Given the description of an element on the screen output the (x, y) to click on. 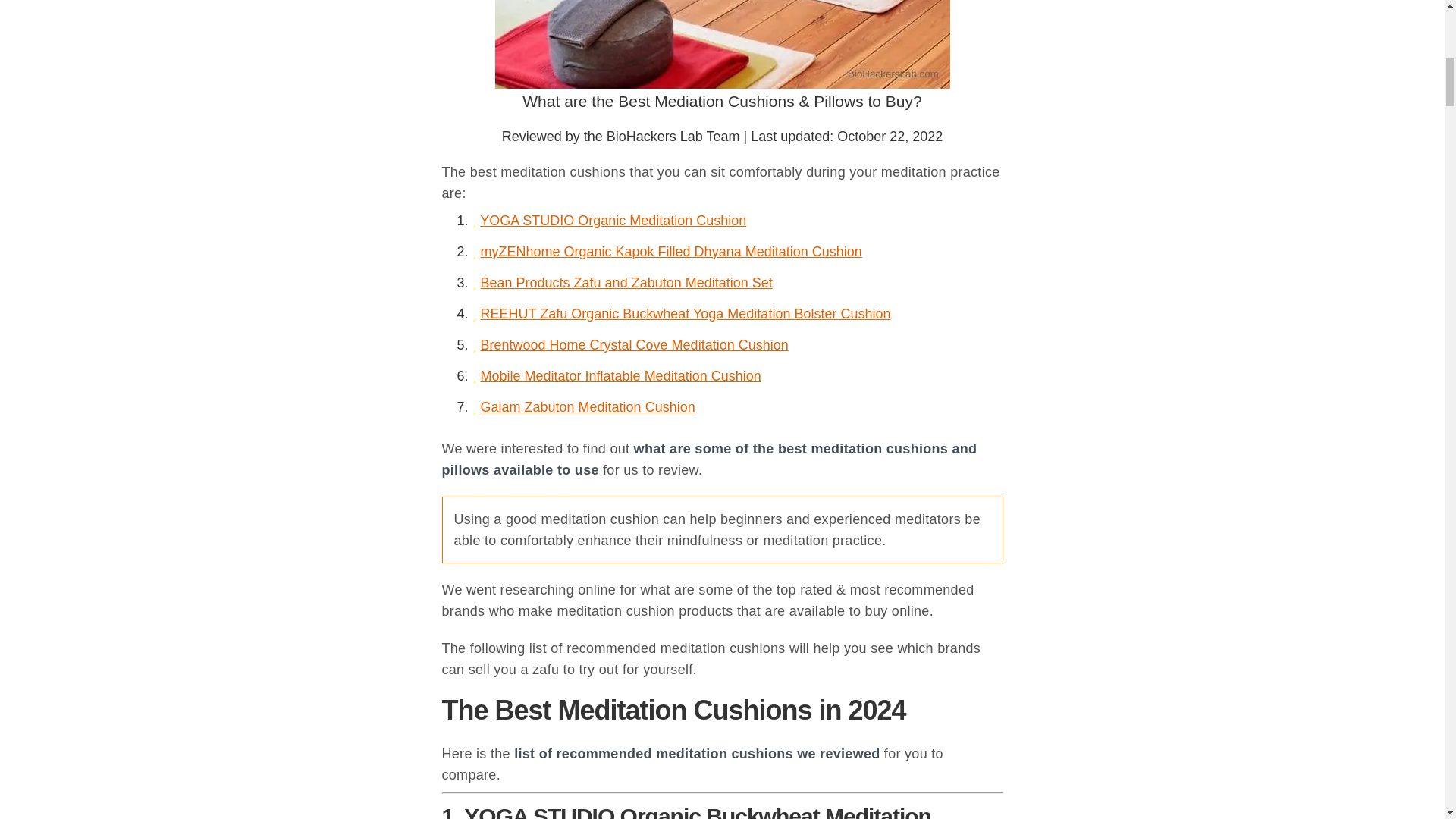
Bean Products Zafu and Zabuton Meditation Set (626, 282)
Mobile Meditator Inflatable Meditation Cushion (620, 376)
Gaiam Zabuton Meditation Cushion (587, 406)
Brentwood Home Crystal Cove Meditation Cushion (634, 344)
myZENhome Organic Kapok Filled Dhyana Meditation Cushion (670, 251)
YOGA STUDIO Organic Meditation Cushion (612, 220)
